Given the description of an element on the screen output the (x, y) to click on. 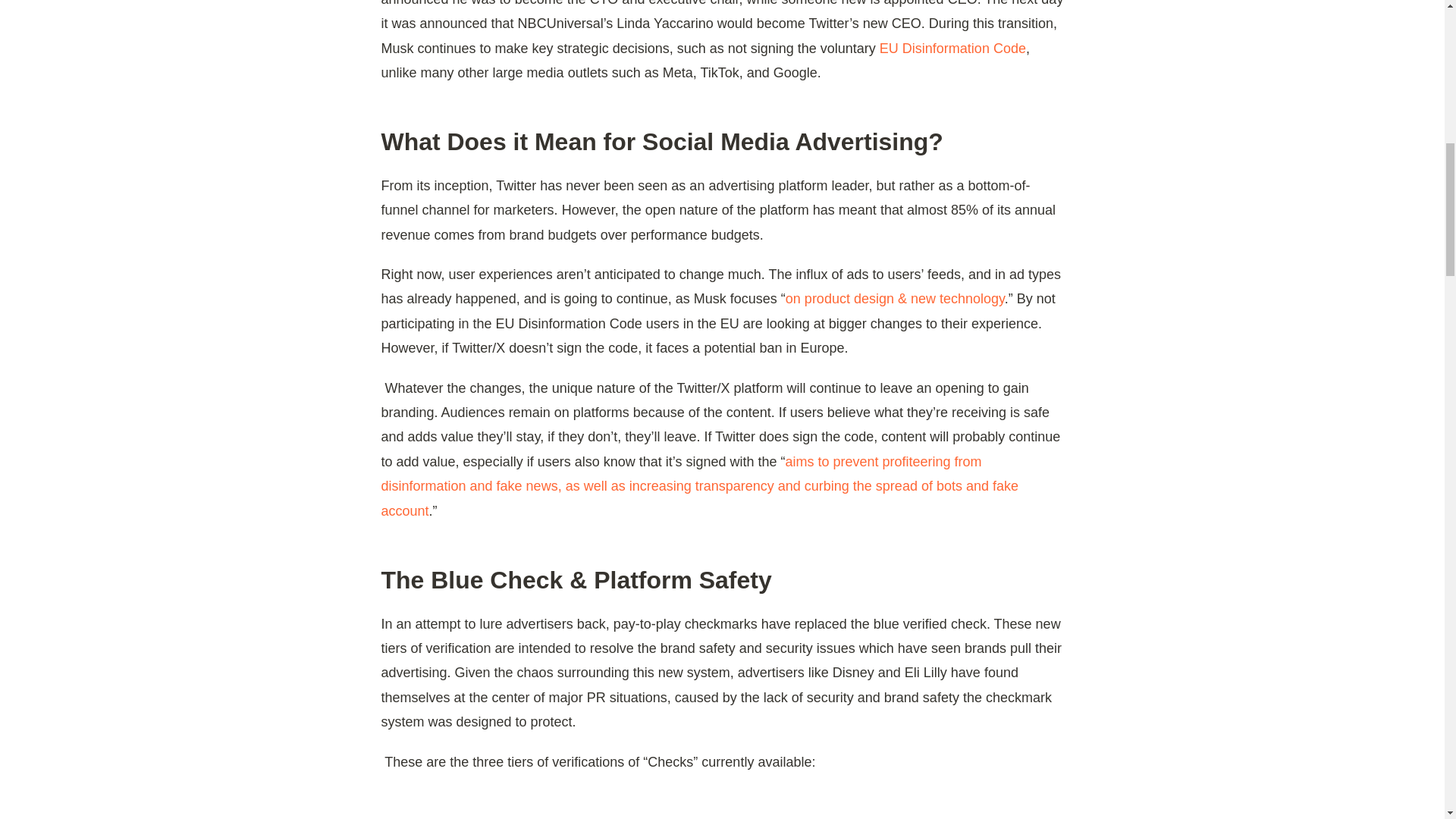
EU Disinformation Code (952, 48)
